Given the description of an element on the screen output the (x, y) to click on. 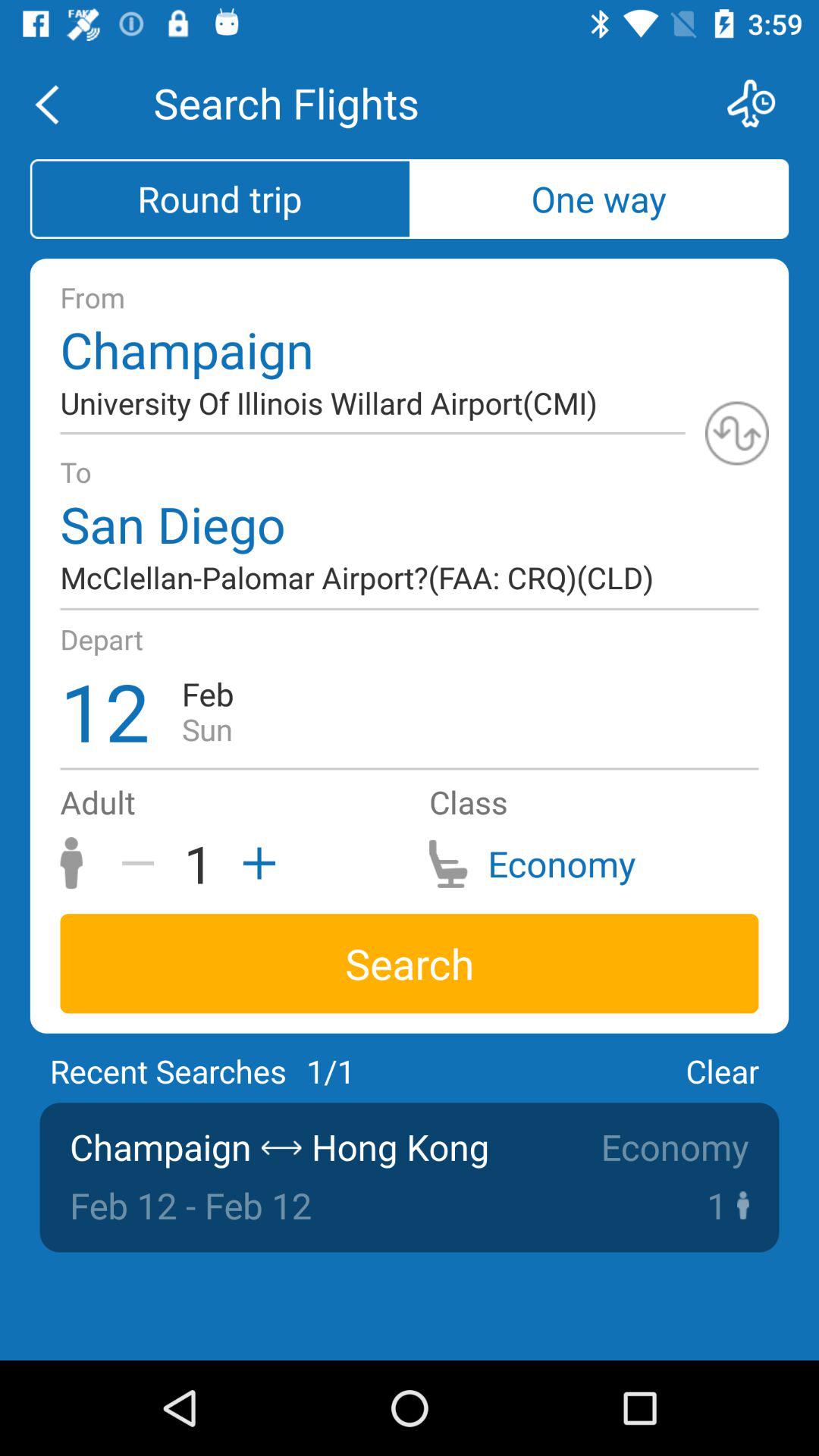
jump until clear item (722, 1070)
